Given the description of an element on the screen output the (x, y) to click on. 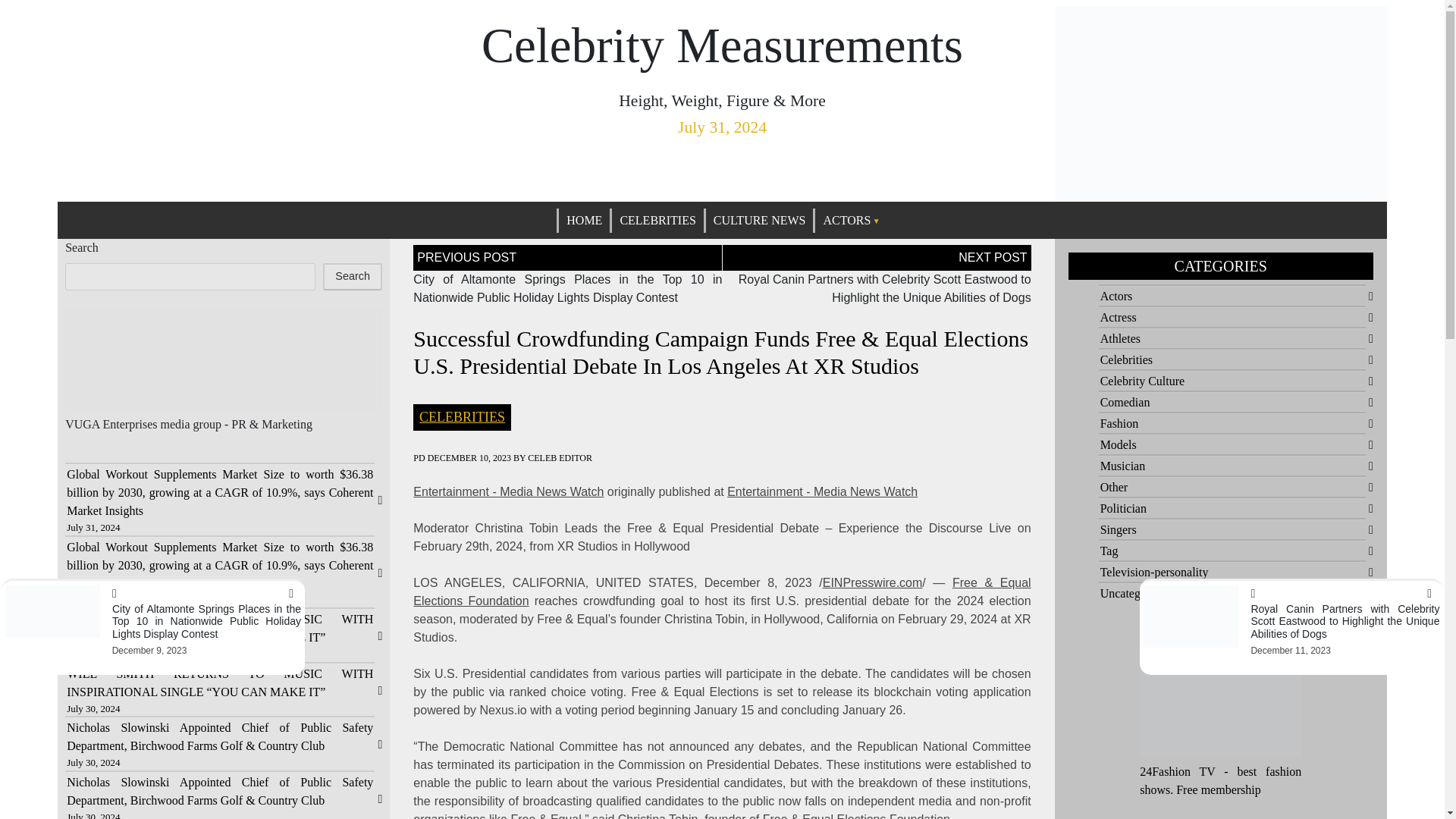
CULTURE NEWS (759, 220)
VUGA Enterprises (111, 423)
CELEBRITIES (657, 220)
Celebrity Measurements (721, 45)
ACTORS (850, 220)
Search (352, 276)
HOME (584, 220)
